Given the description of an element on the screen output the (x, y) to click on. 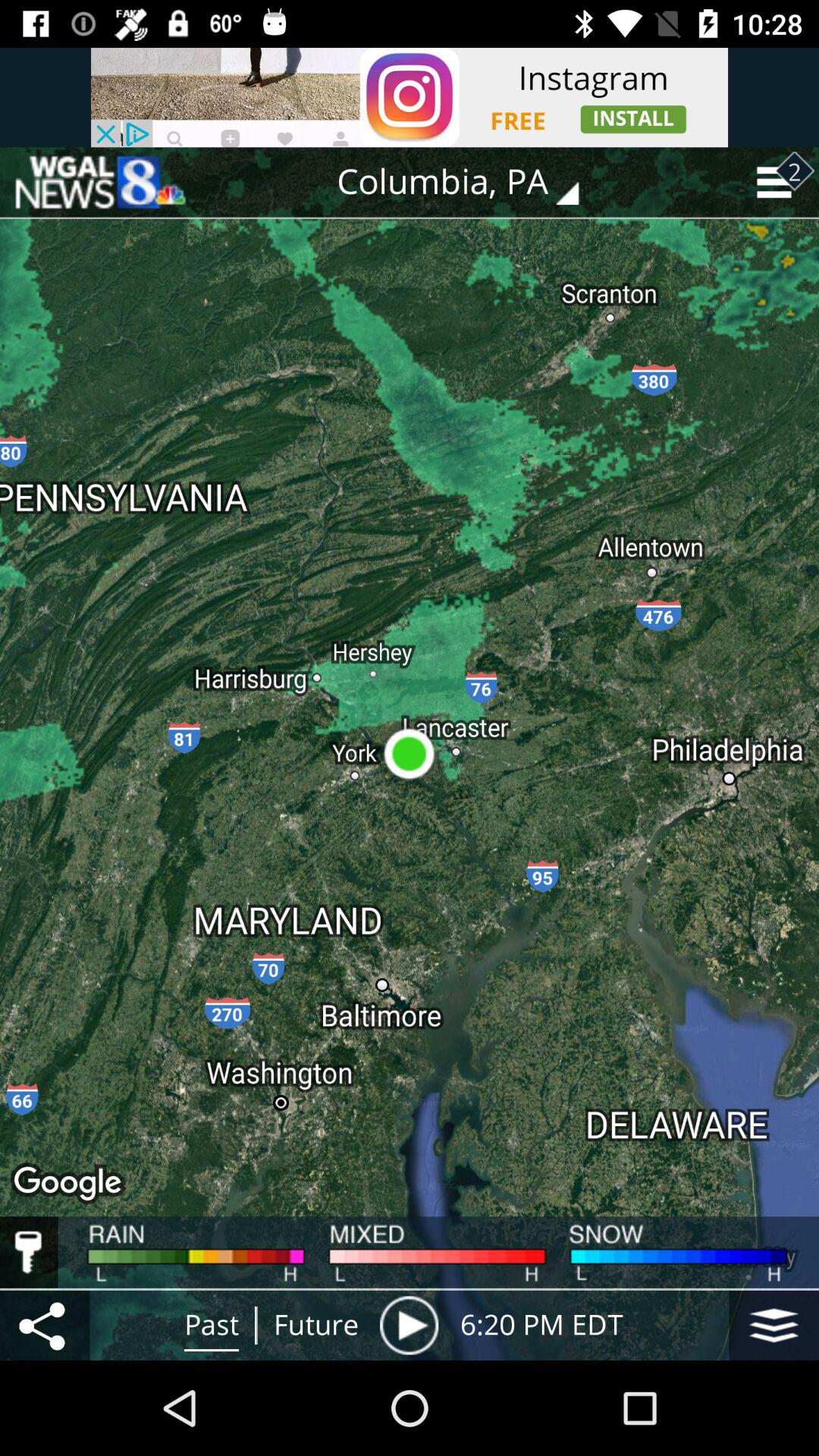
change terrains (774, 1325)
